Given the description of an element on the screen output the (x, y) to click on. 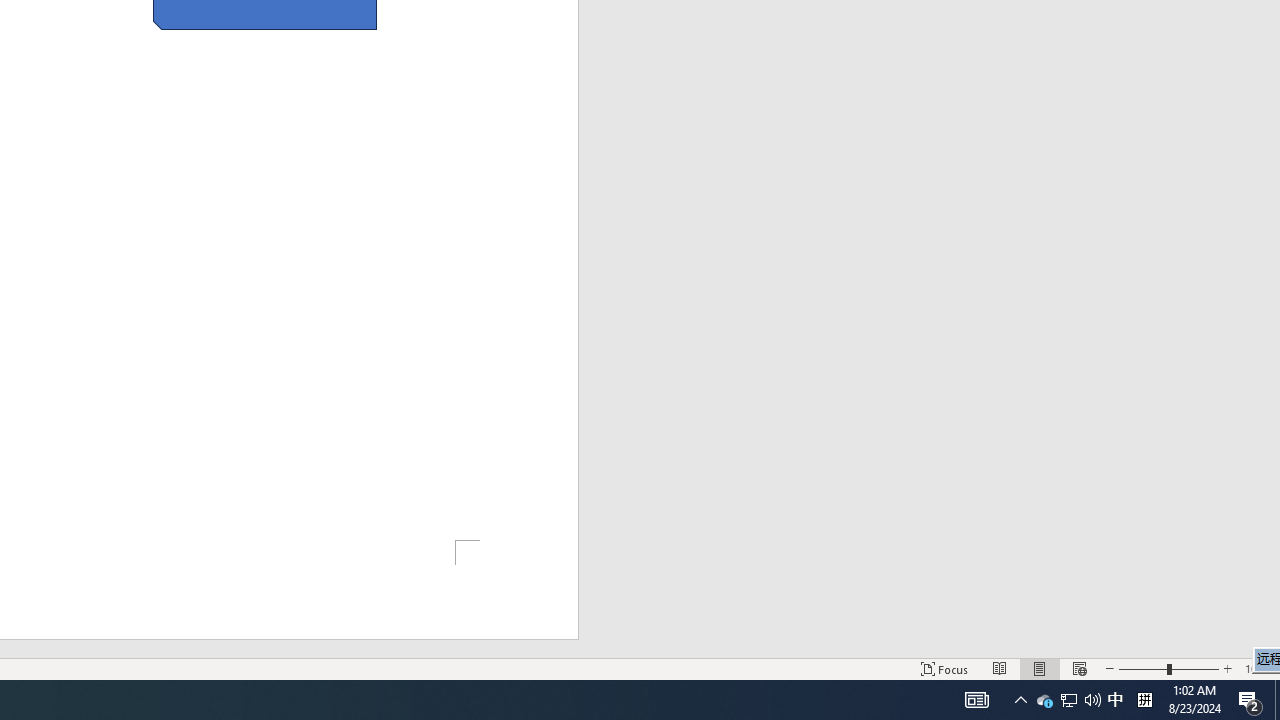
Zoom (1168, 668)
Zoom 104% (1258, 668)
